Given the description of an element on the screen output the (x, y) to click on. 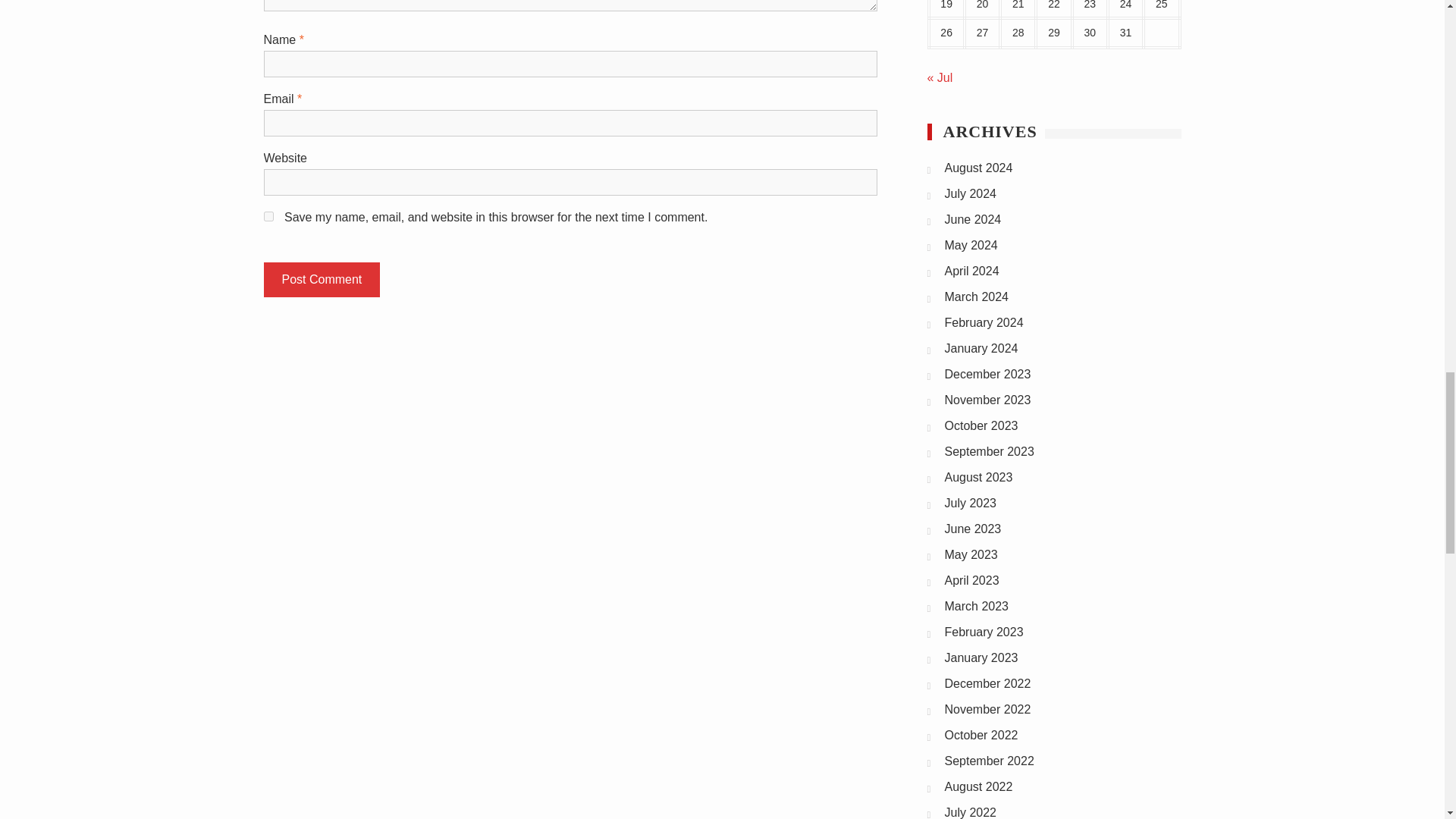
Post Comment (321, 279)
Post Comment (321, 279)
yes (268, 216)
